Given the description of an element on the screen output the (x, y) to click on. 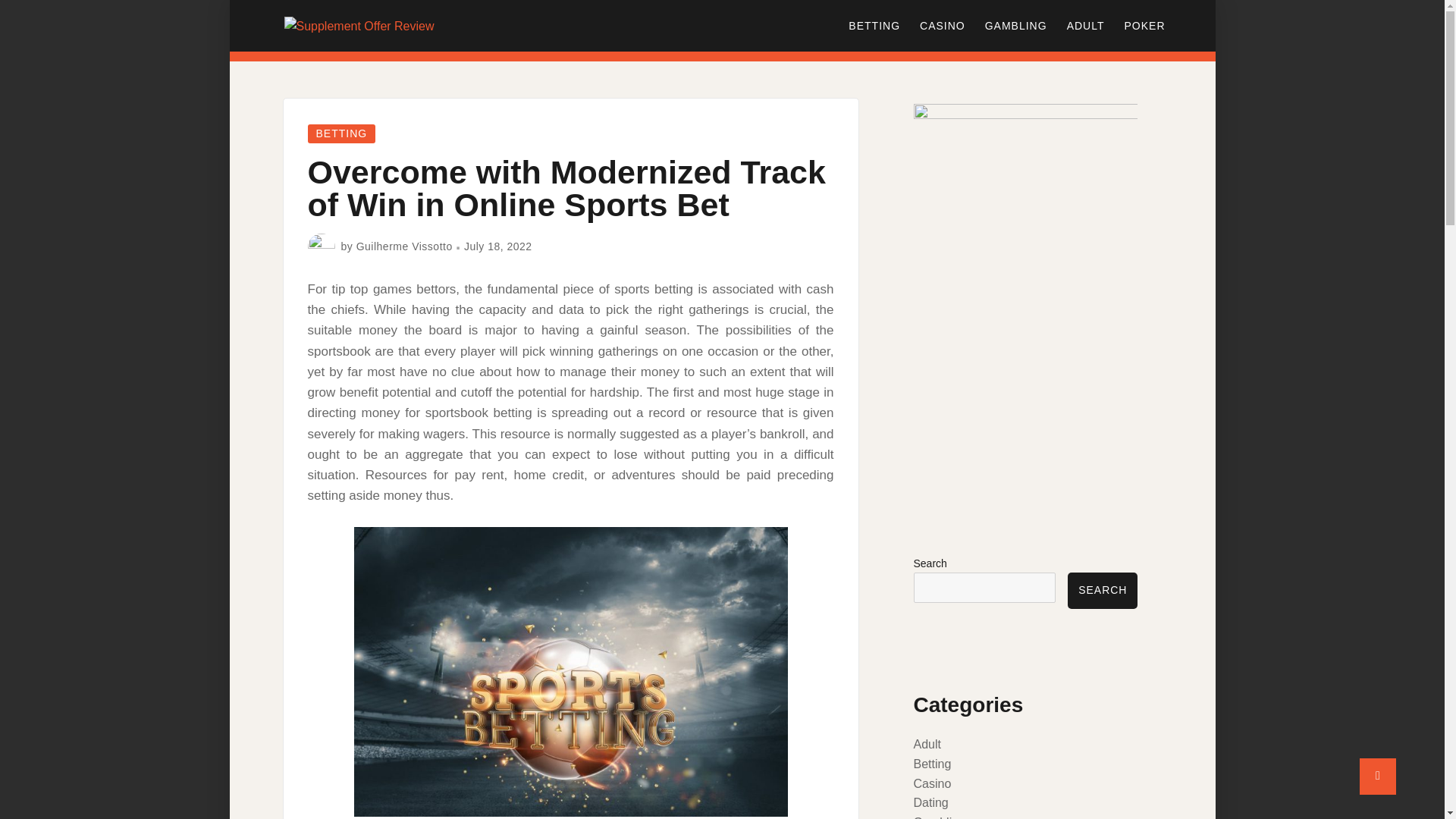
POKER (1143, 25)
GAMBLING (1016, 25)
July 18, 2022 (498, 246)
BETTING (874, 25)
Dating (929, 802)
Casino (931, 783)
Scroll to top (1377, 776)
CASINO (942, 25)
Betting (931, 763)
Guilherme Vissotto (404, 246)
